Given the description of an element on the screen output the (x, y) to click on. 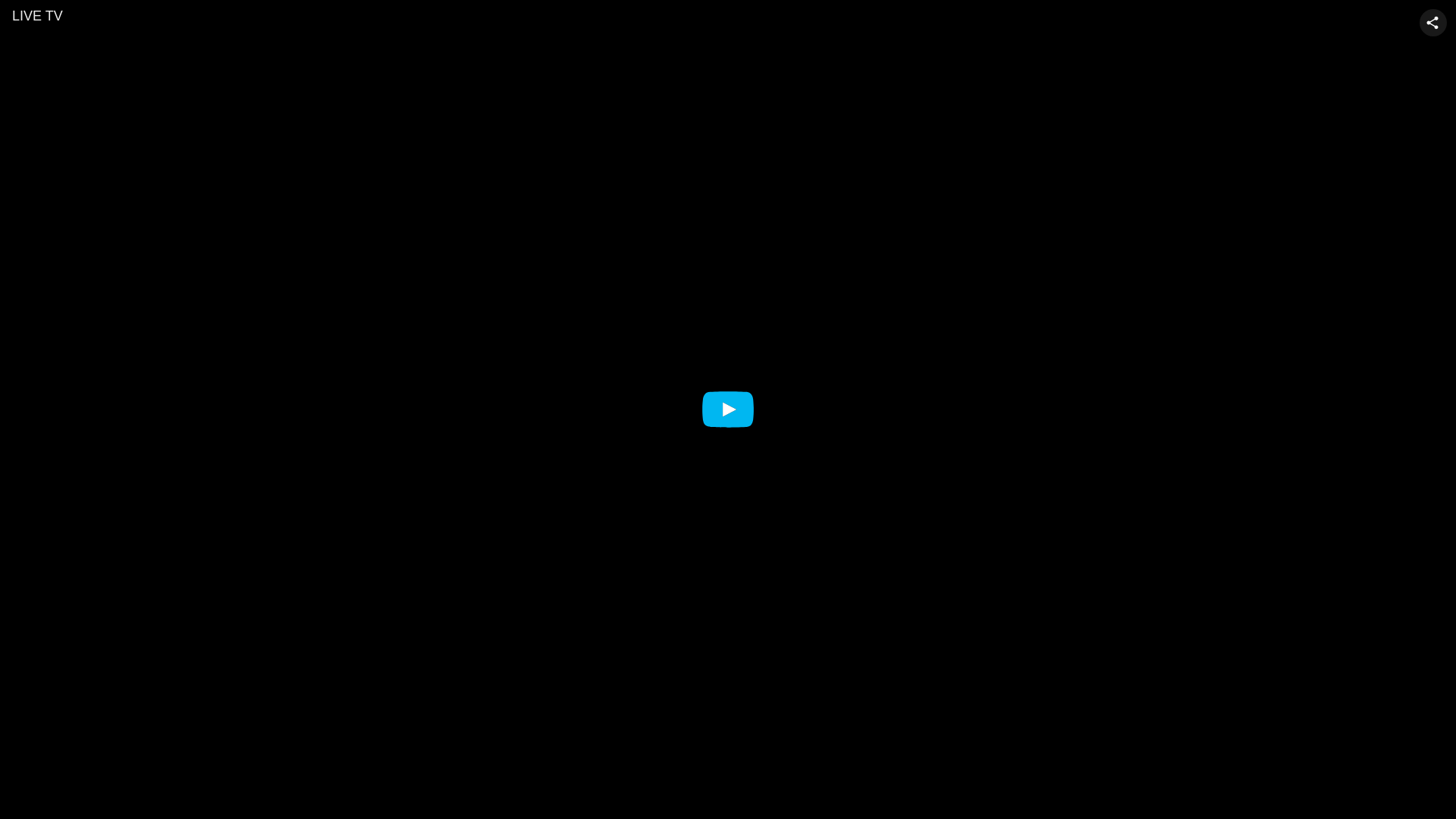
Share video Element type: text (1432, 22)
